Given the description of an element on the screen output the (x, y) to click on. 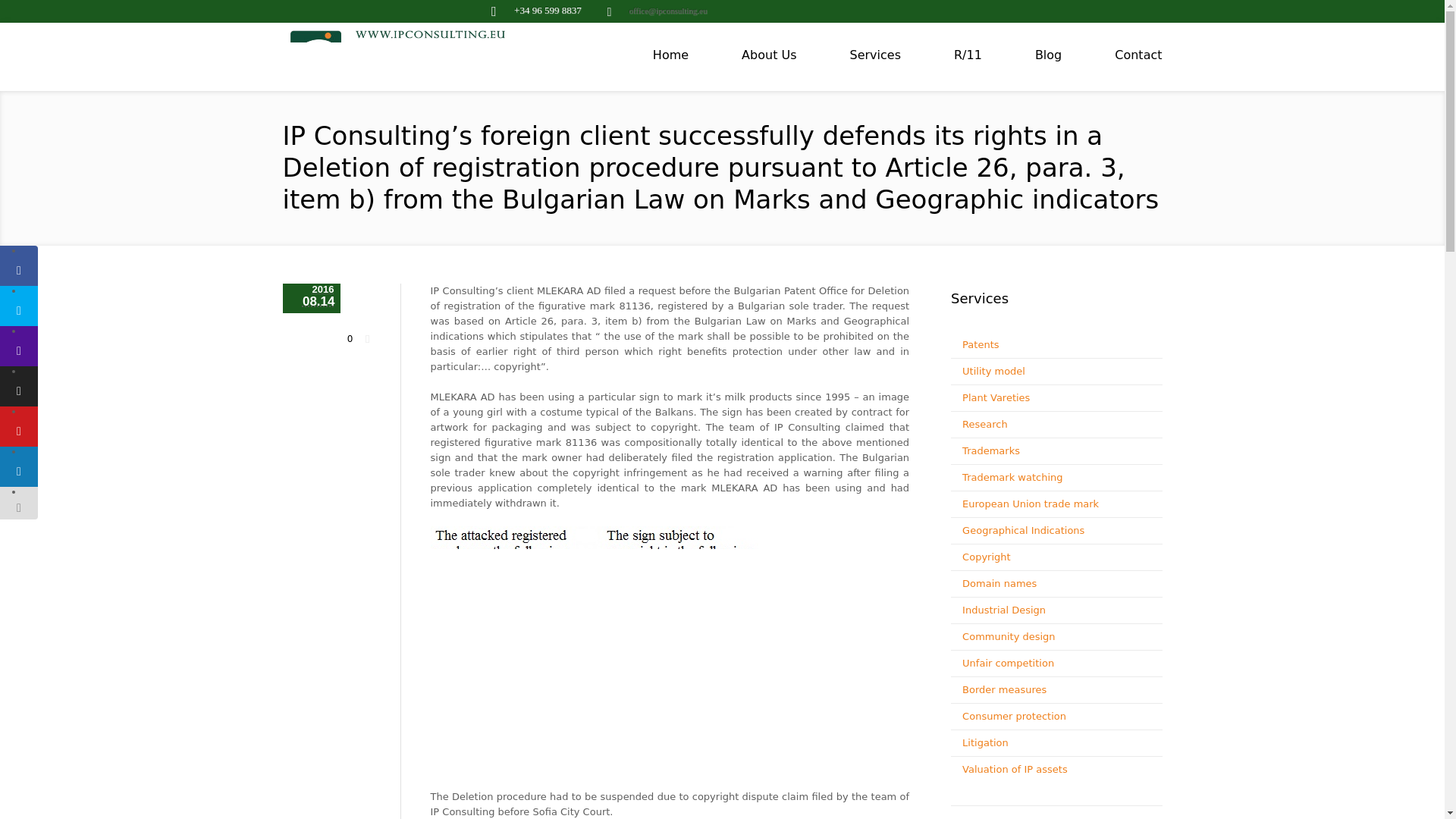
About Us (768, 55)
Services (875, 55)
August 14, 2016 (310, 297)
Home (670, 55)
IP Consulting (402, 64)
